Given the description of an element on the screen output the (x, y) to click on. 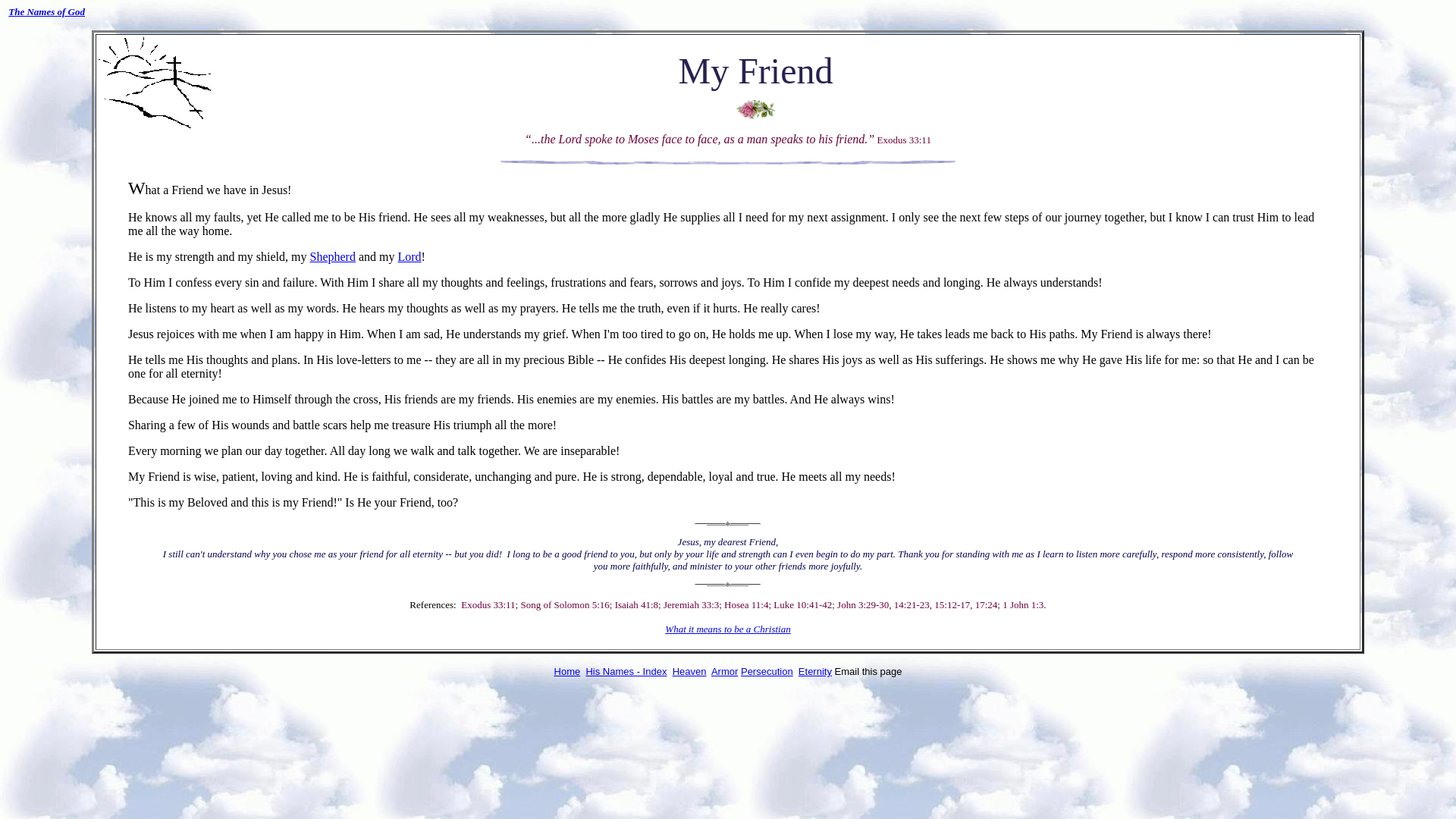
Heaven (689, 671)
Eternity (814, 670)
What it means to be a Christian (727, 628)
Home (567, 671)
Armor (724, 671)
Persecution (767, 671)
Shepherd (331, 256)
Lord (408, 256)
The Names of God (46, 11)
His Names - Index (625, 671)
